Given the description of an element on the screen output the (x, y) to click on. 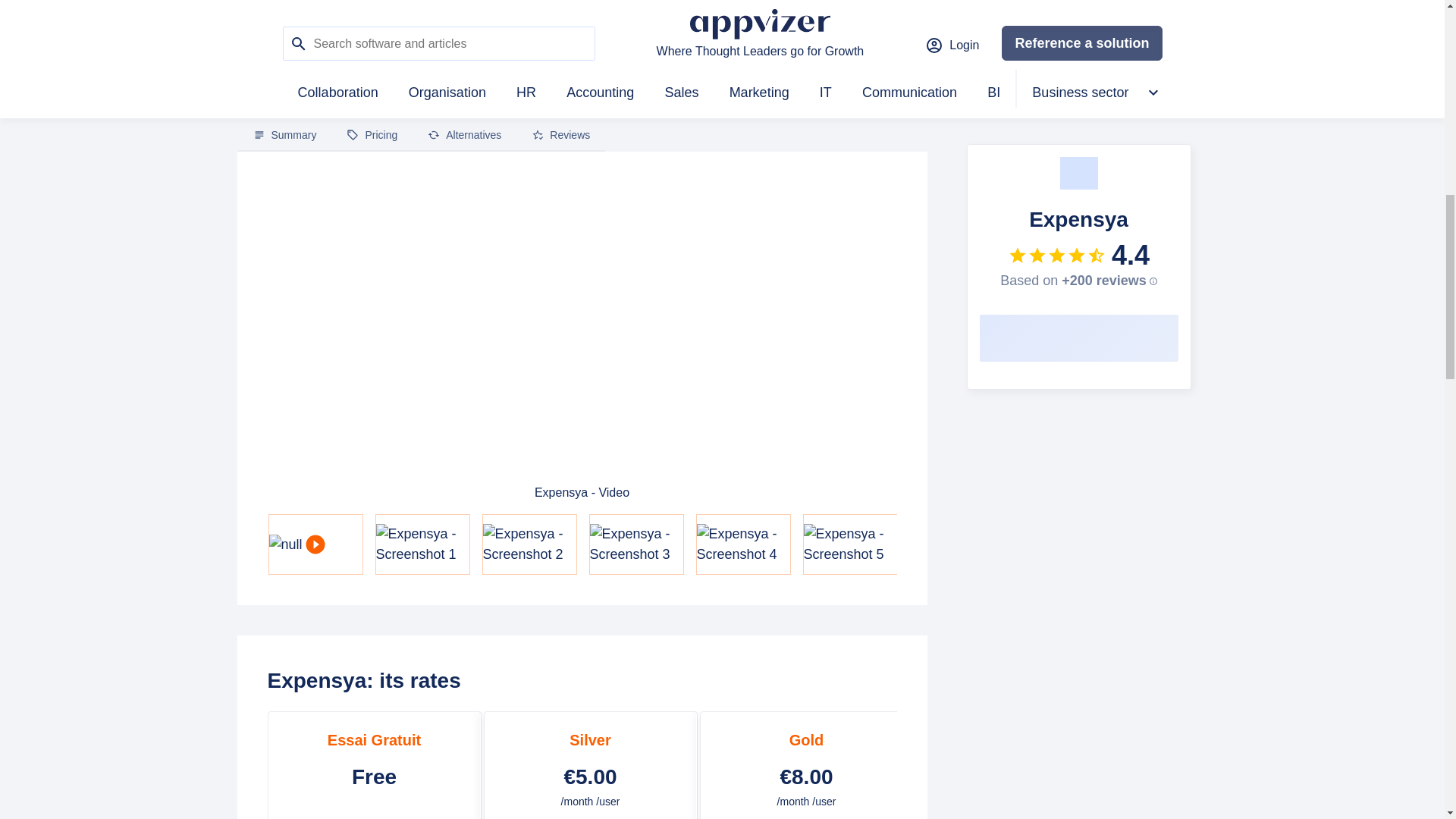
Expensya - Screenshot 4 (742, 544)
null (314, 543)
Expensya - Screenshot 2 (528, 544)
Expensya - Screenshot 5 (849, 544)
Expensya - Screenshot 1 (421, 544)
Expensya - Screenshot 3 (635, 544)
